Given the description of an element on the screen output the (x, y) to click on. 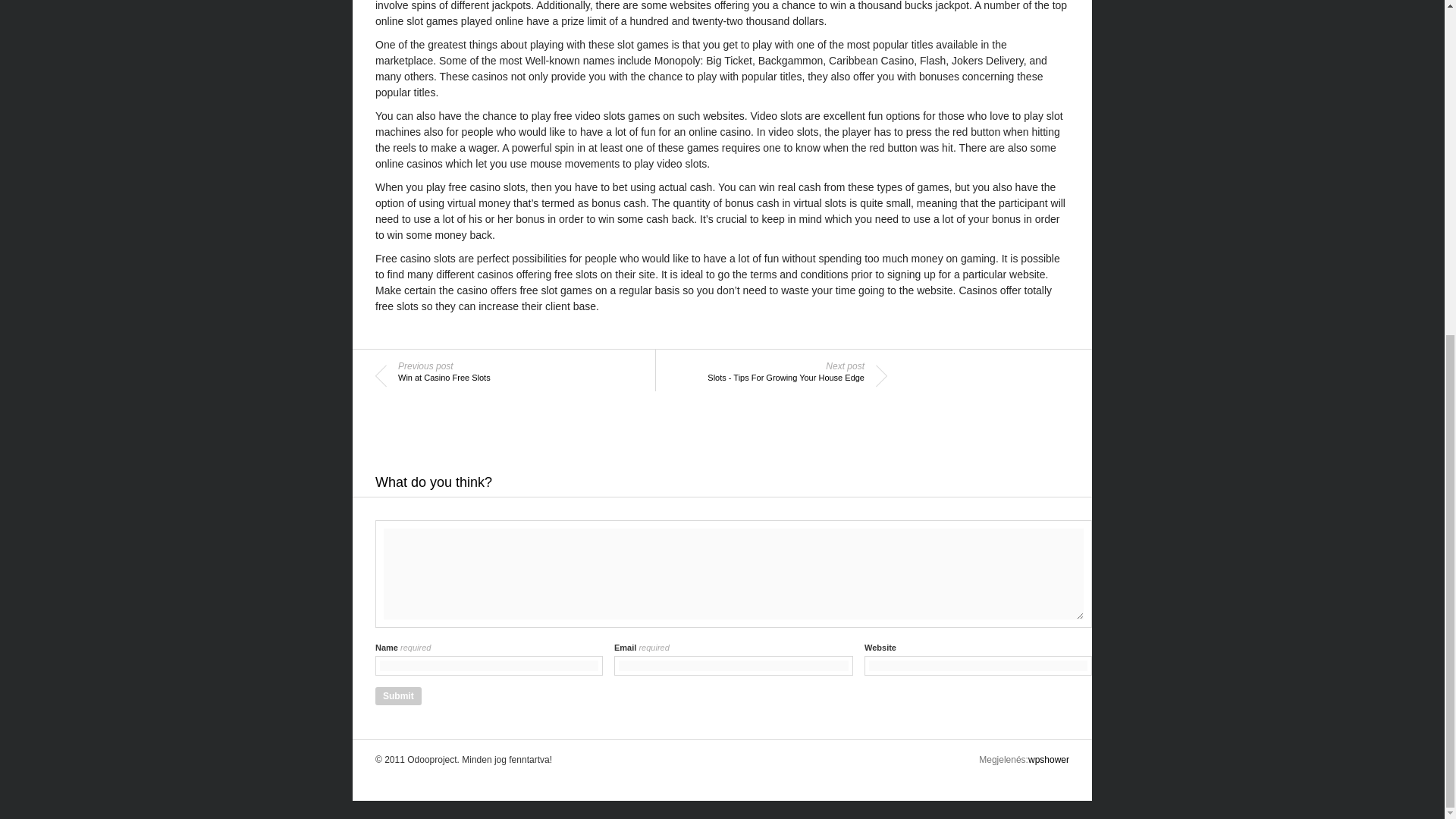
Submit (758, 376)
Submit (398, 696)
wpshower (502, 376)
